Given the description of an element on the screen output the (x, y) to click on. 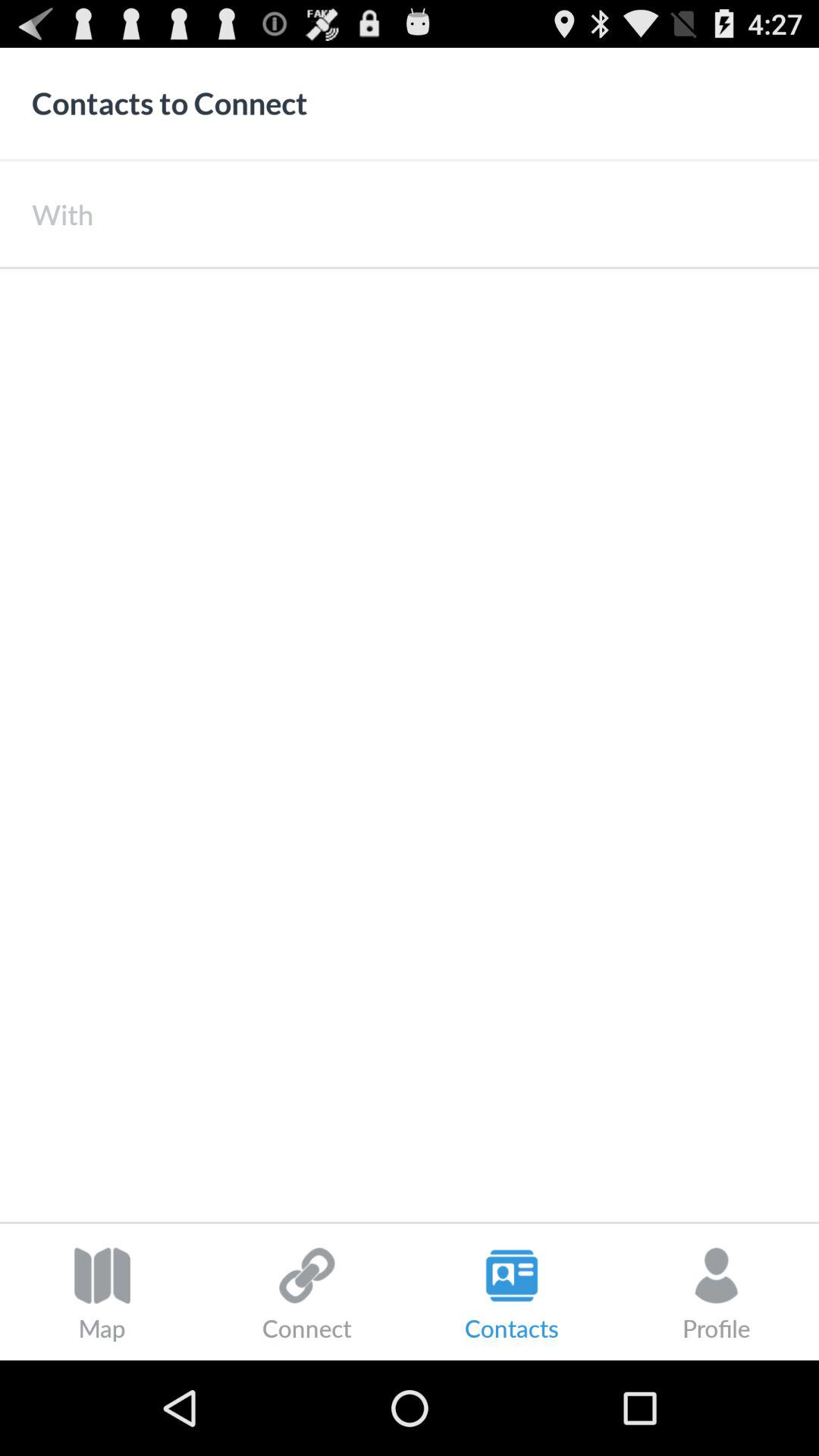
tap the item to the right of with icon (456, 213)
